Given the description of an element on the screen output the (x, y) to click on. 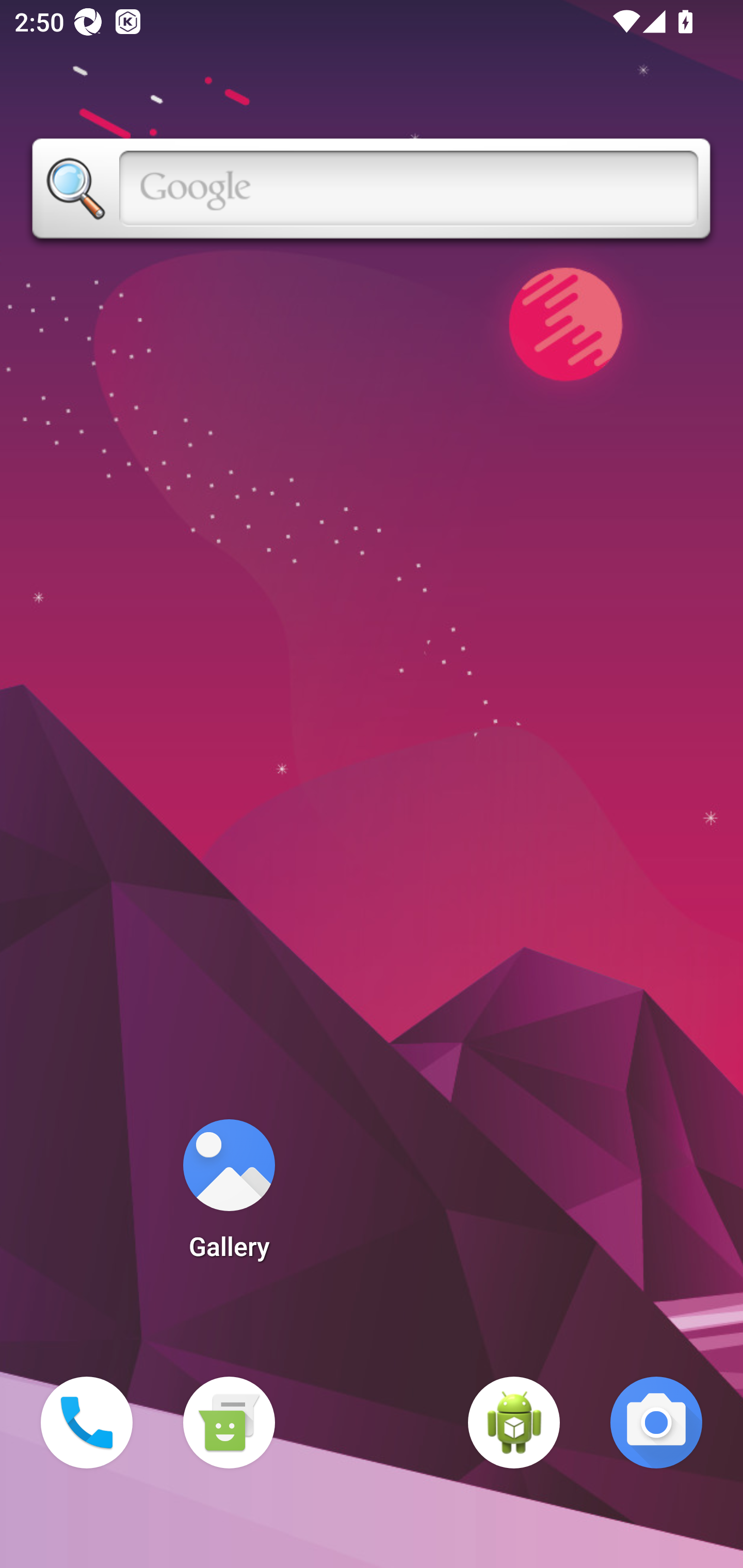
Gallery (228, 1195)
Phone (86, 1422)
Messaging (228, 1422)
WebView Browser Tester (513, 1422)
Camera (656, 1422)
